Given the description of an element on the screen output the (x, y) to click on. 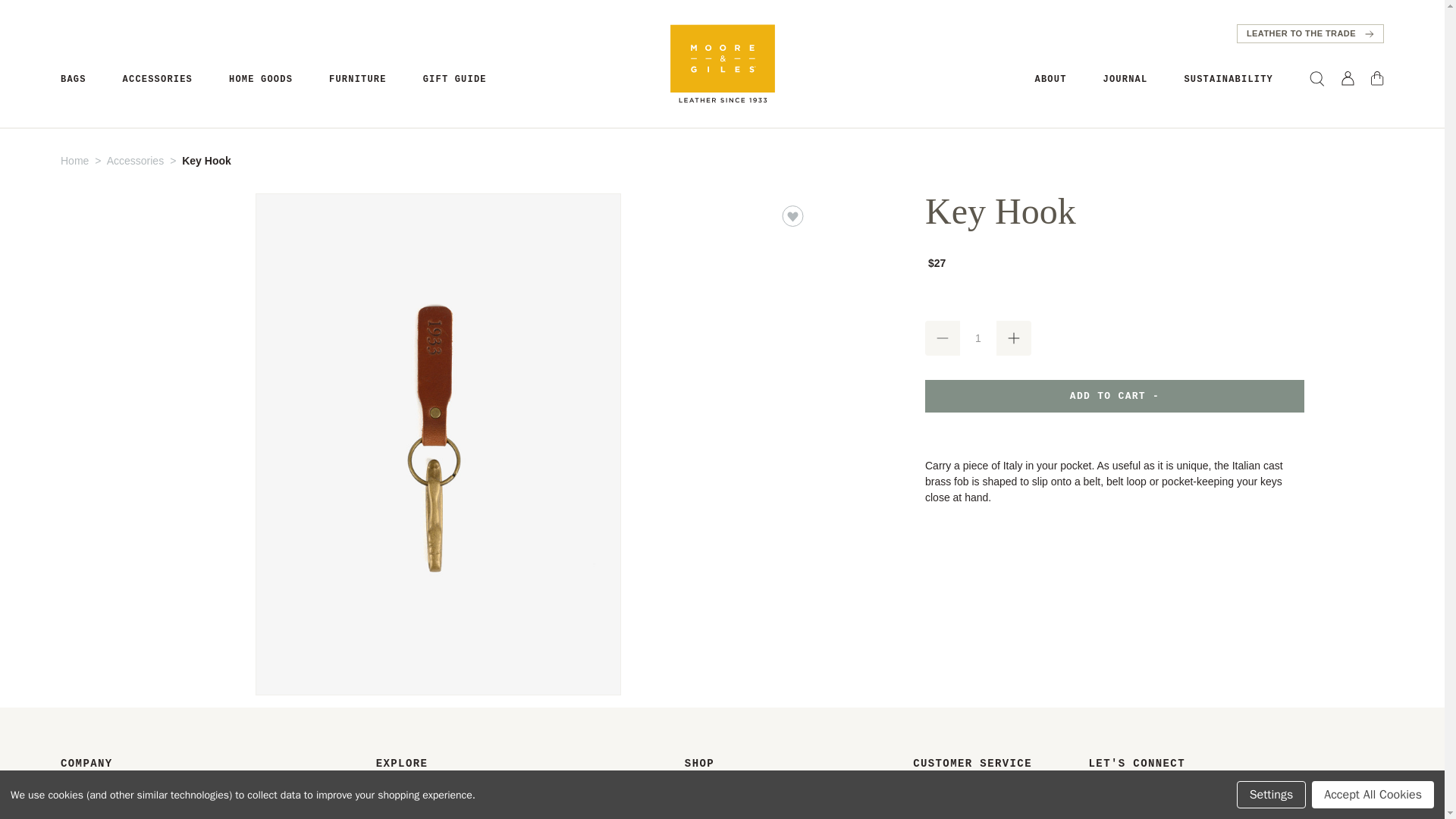
Account Outline of a shirt and head to portray account (1347, 78)
ACCESSORIES (157, 79)
BAGS (73, 79)
1 (977, 338)
SEARCH CLICKING THIS ICON WILL EXPAND SEARCH (1316, 78)
Open Add to wishlist modal (792, 215)
